Given the description of an element on the screen output the (x, y) to click on. 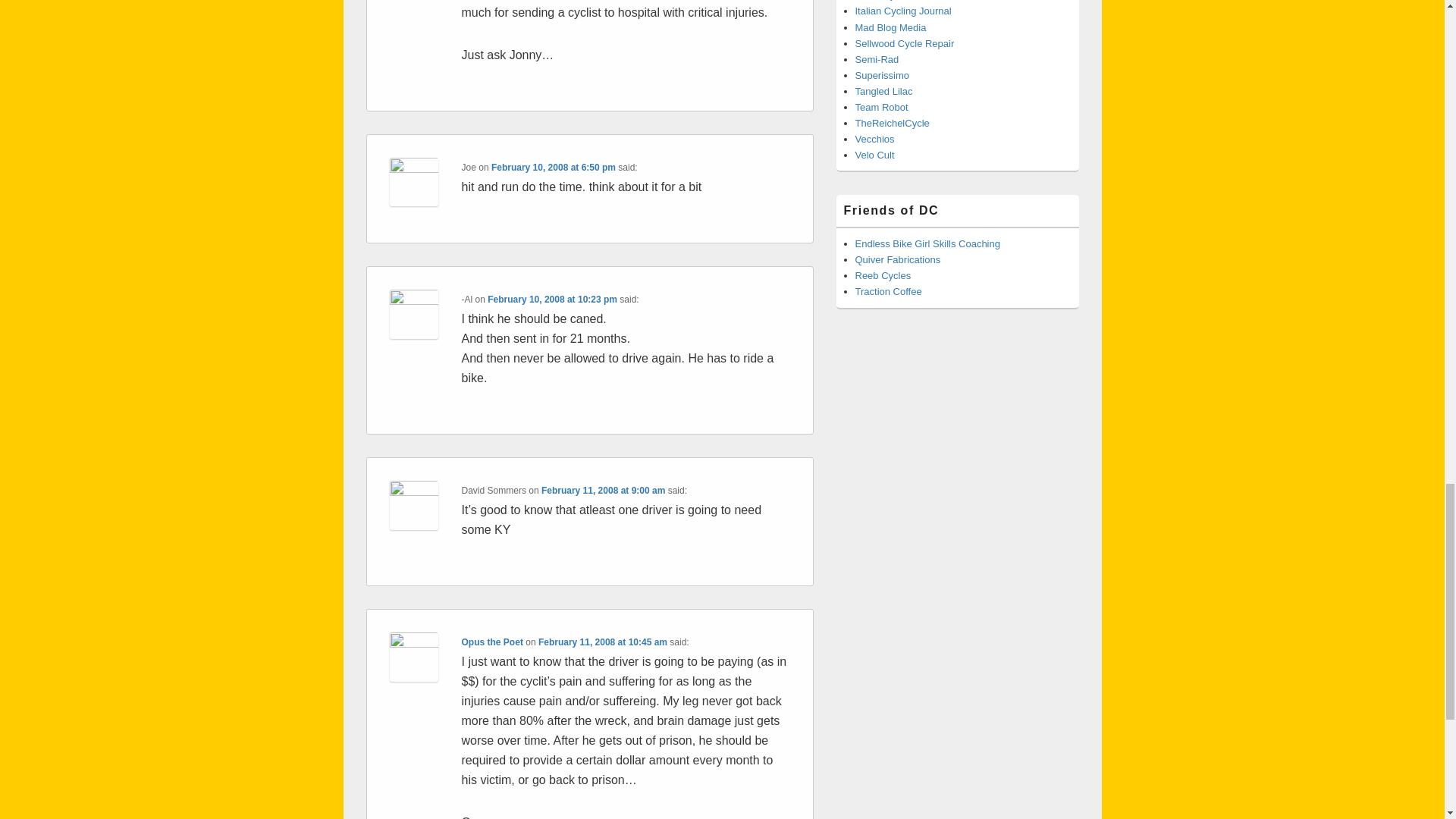
February 10, 2008 at 6:50 pm (553, 167)
The best coach in the biz (928, 243)
February 11, 2008 at 9:00 am (603, 490)
February 10, 2008 at 10:23 pm (552, 299)
beer spelled backwards bikes (883, 275)
Titamium bongs and shit (898, 259)
Opus the Poet (491, 642)
February 11, 2008 at 10:45 am (602, 642)
Dirty doing his thing.  (893, 122)
coffee made by riders (888, 291)
